Given the description of an element on the screen output the (x, y) to click on. 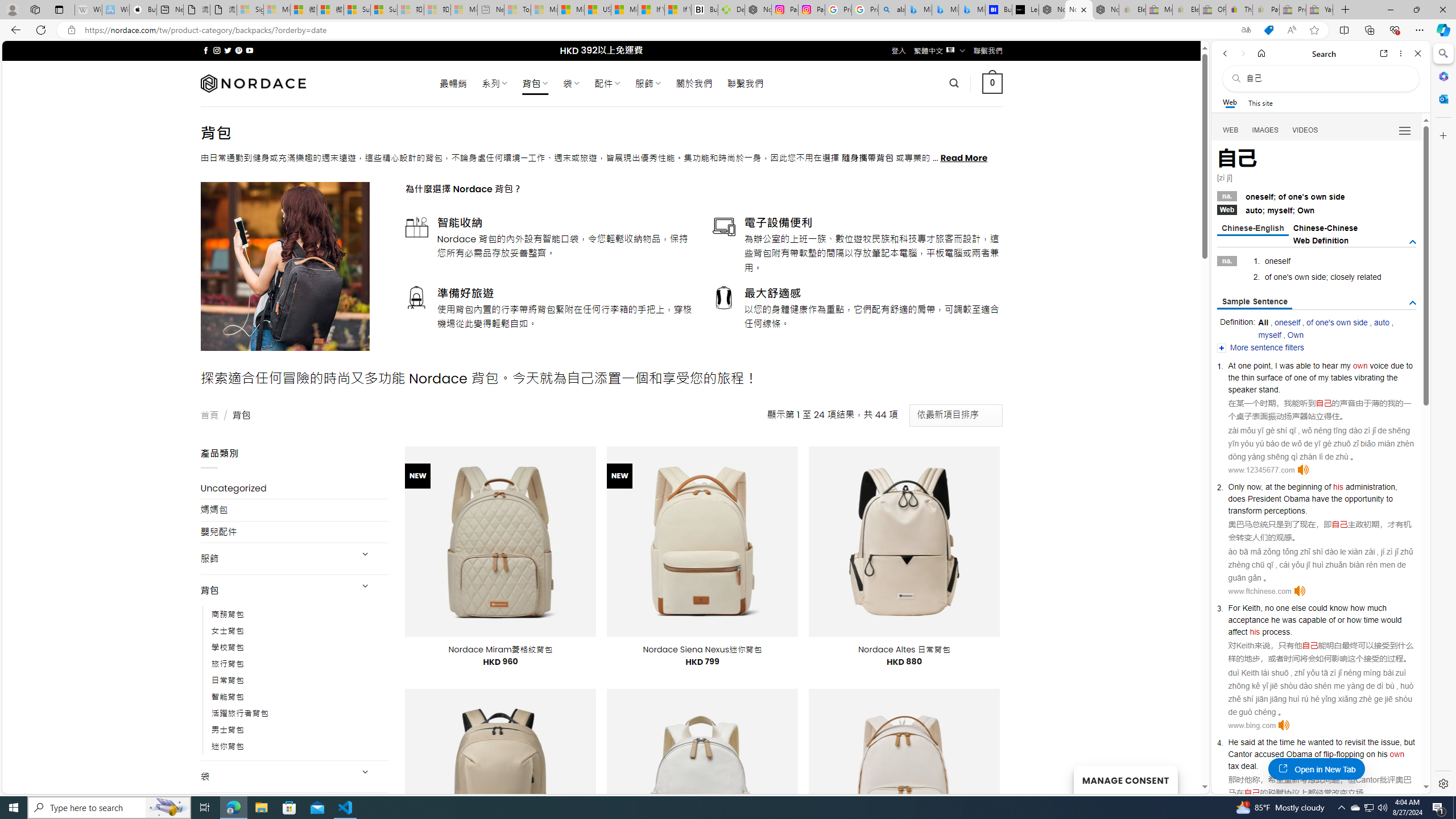
He (1233, 741)
revisit (1354, 741)
but (1409, 741)
closely (1342, 276)
